Given the description of an element on the screen output the (x, y) to click on. 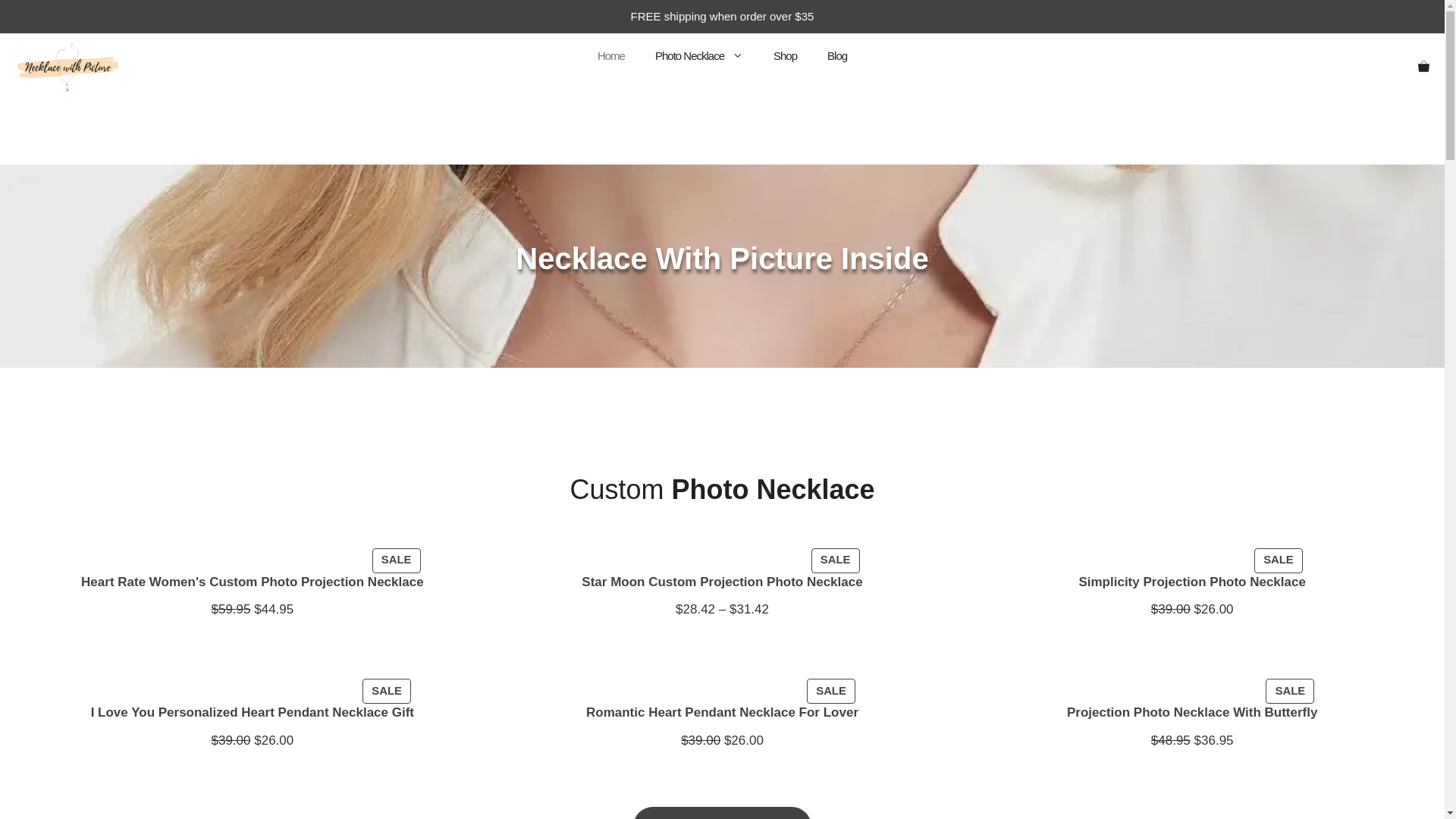
Necklace With Picture Inside (67, 66)
